Given the description of an element on the screen output the (x, y) to click on. 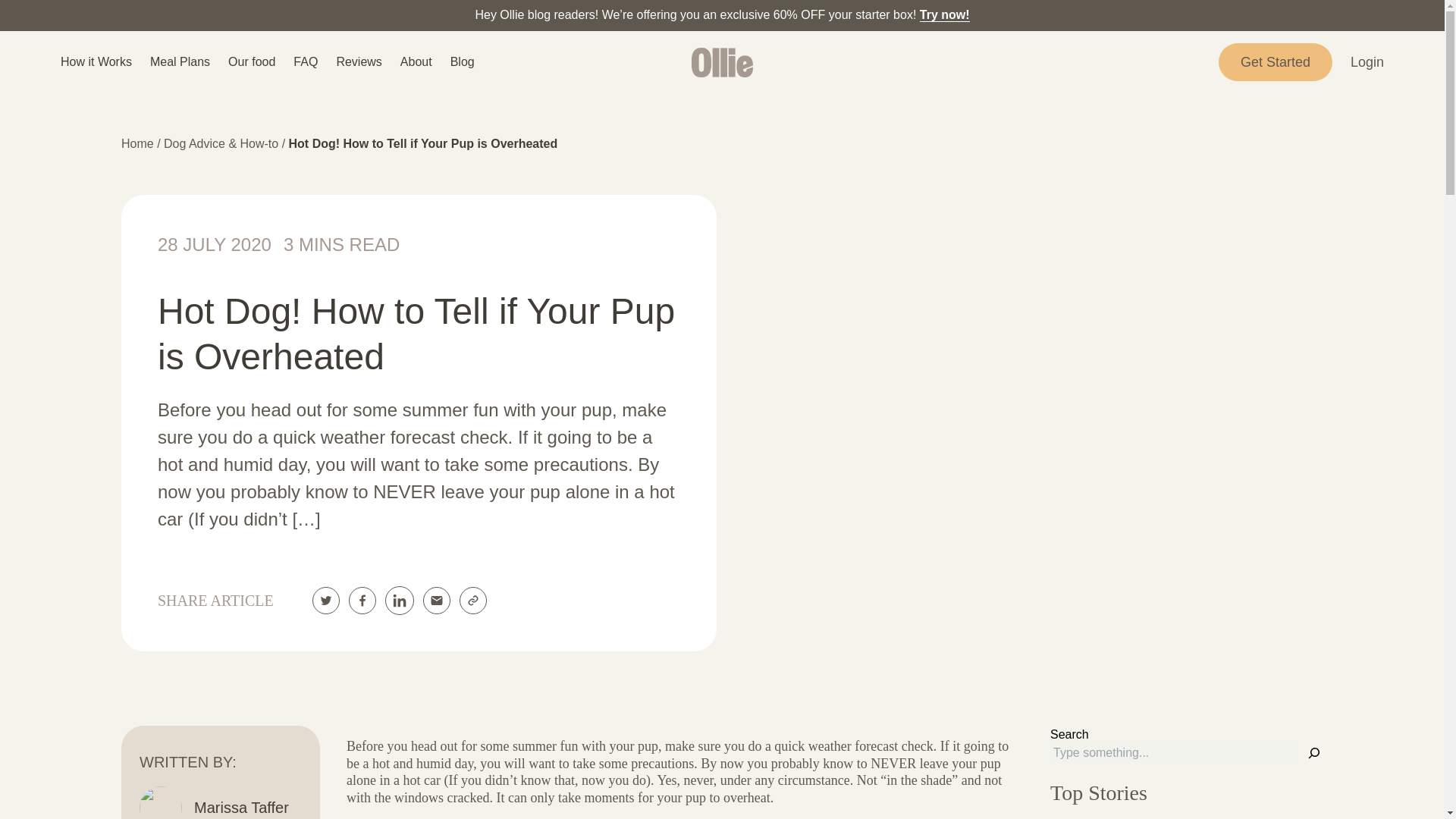
Try now! (944, 14)
Reviews (358, 62)
Get Started (1275, 62)
How it Works (96, 62)
Our food (251, 62)
Hot Dog! How to Tell if Your Pup is Overheated (422, 143)
Marissa Taffer (240, 807)
Meal Plans (179, 62)
Login (1367, 61)
Home (138, 143)
